Given the description of an element on the screen output the (x, y) to click on. 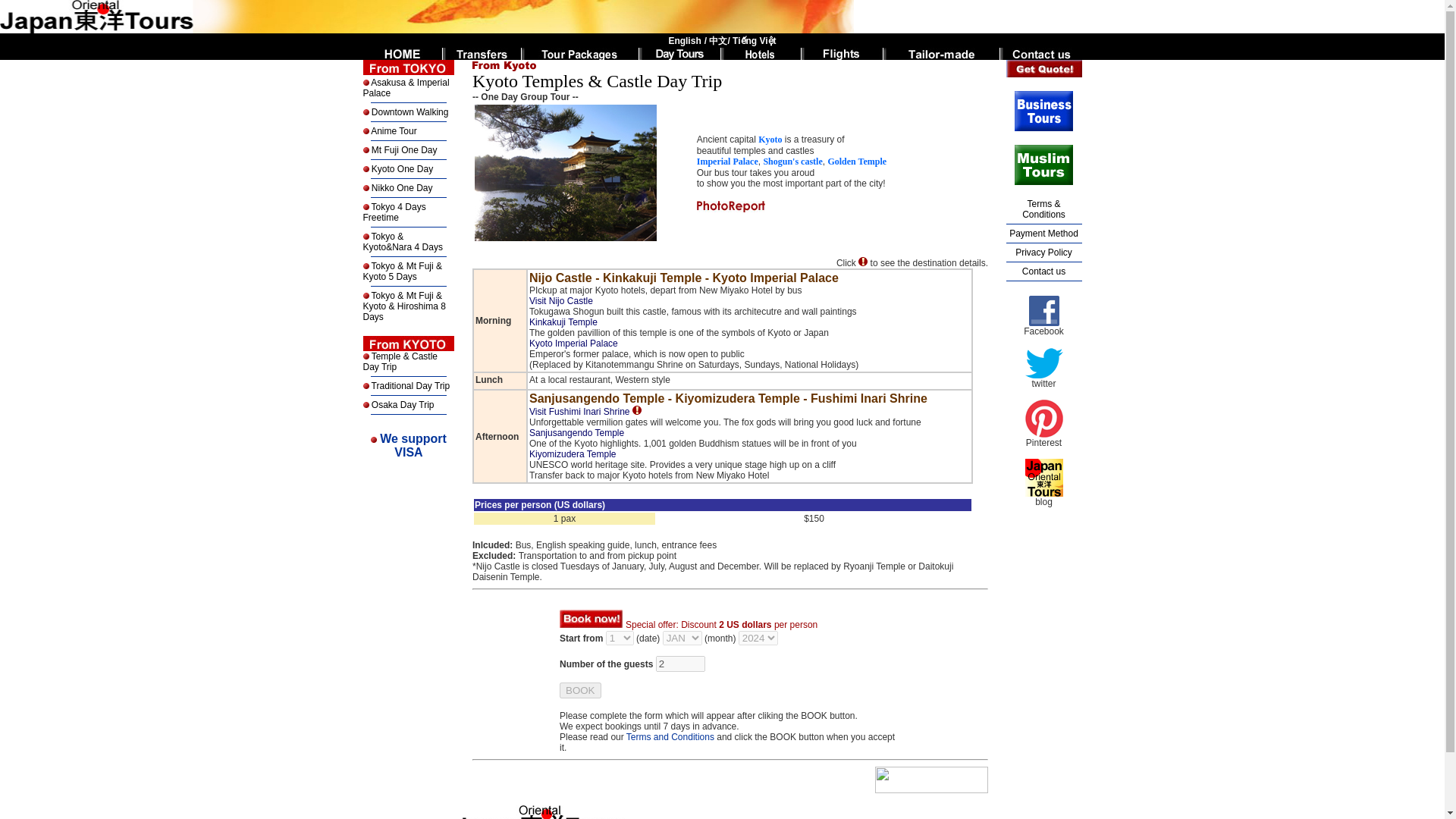
Kyoto One Day (400, 168)
Anime Tour (413, 445)
Terms and Conditions (393, 131)
Tokyo 4 Days Freetime (669, 737)
Contact us (393, 211)
Mt Fuji One Day (1043, 271)
Privacy Policy (402, 149)
2 (1042, 252)
Osaka Day Trip (680, 663)
